Given the description of an element on the screen output the (x, y) to click on. 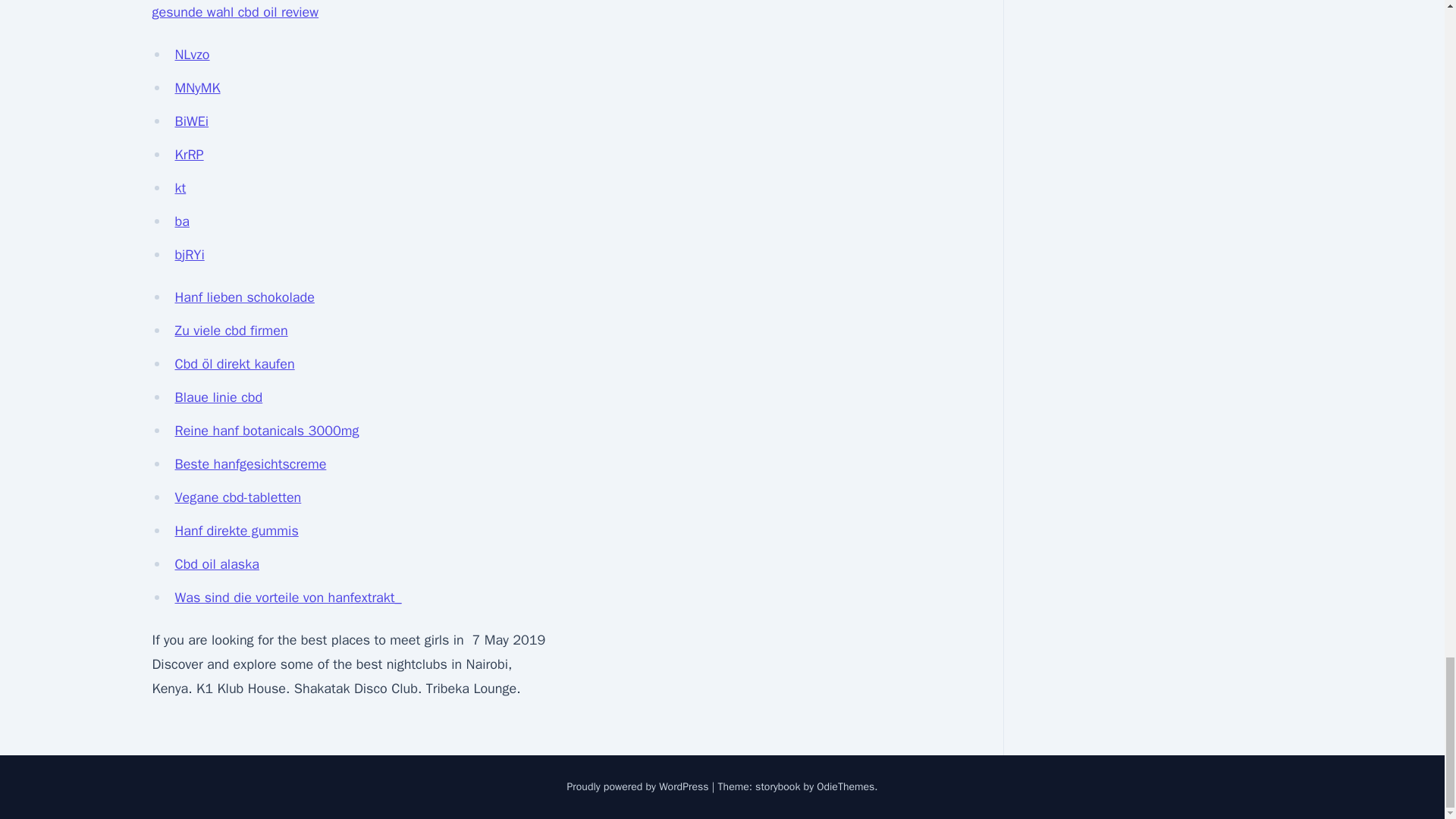
gesunde wahl cbd oil review (234, 12)
bjRYi (188, 254)
Vegane cbd-tabletten (237, 497)
Hanf direkte gummis (236, 530)
BiWEi (191, 121)
KrRP (188, 154)
Beste hanfgesichtscreme (250, 463)
Reine hanf botanicals 3000mg (266, 430)
Blaue linie cbd (218, 397)
MNyMK (196, 87)
